Given the description of an element on the screen output the (x, y) to click on. 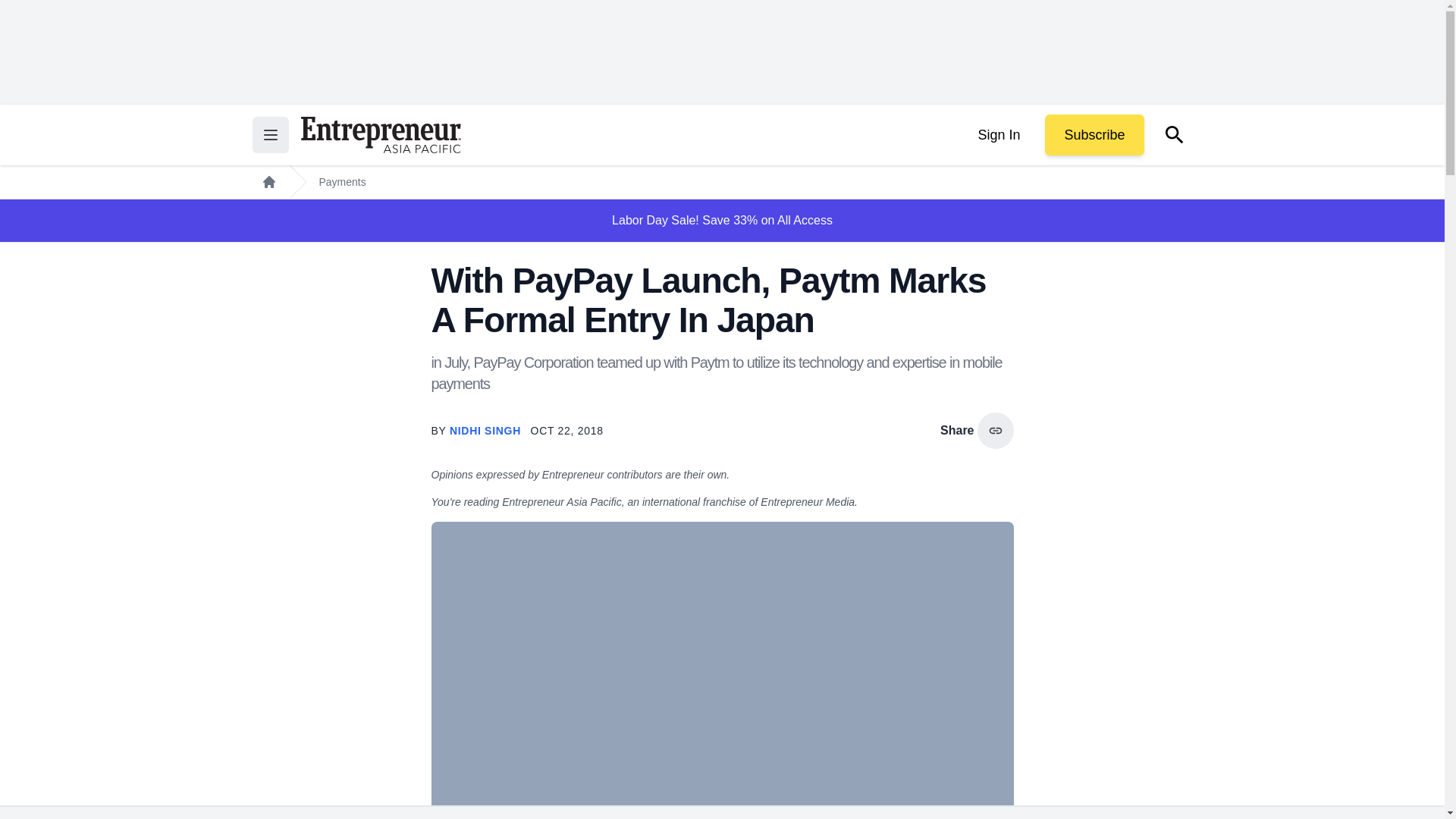
copy (994, 430)
Sign In (998, 134)
Subscribe (1093, 134)
Return to the home page (380, 135)
